Given the description of an element on the screen output the (x, y) to click on. 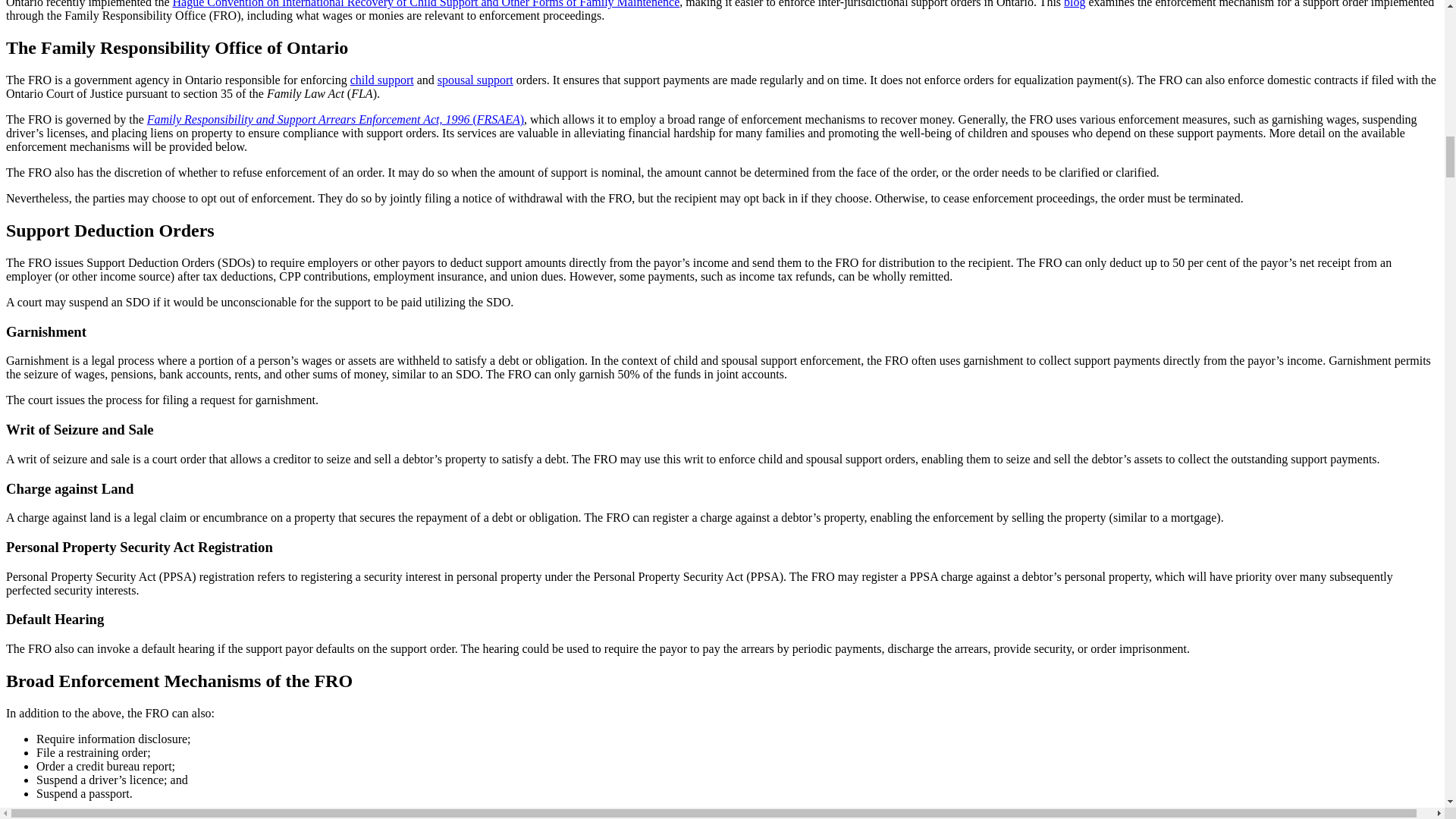
child support (381, 79)
blog (1074, 4)
spousal support (475, 79)
